Given the description of an element on the screen output the (x, y) to click on. 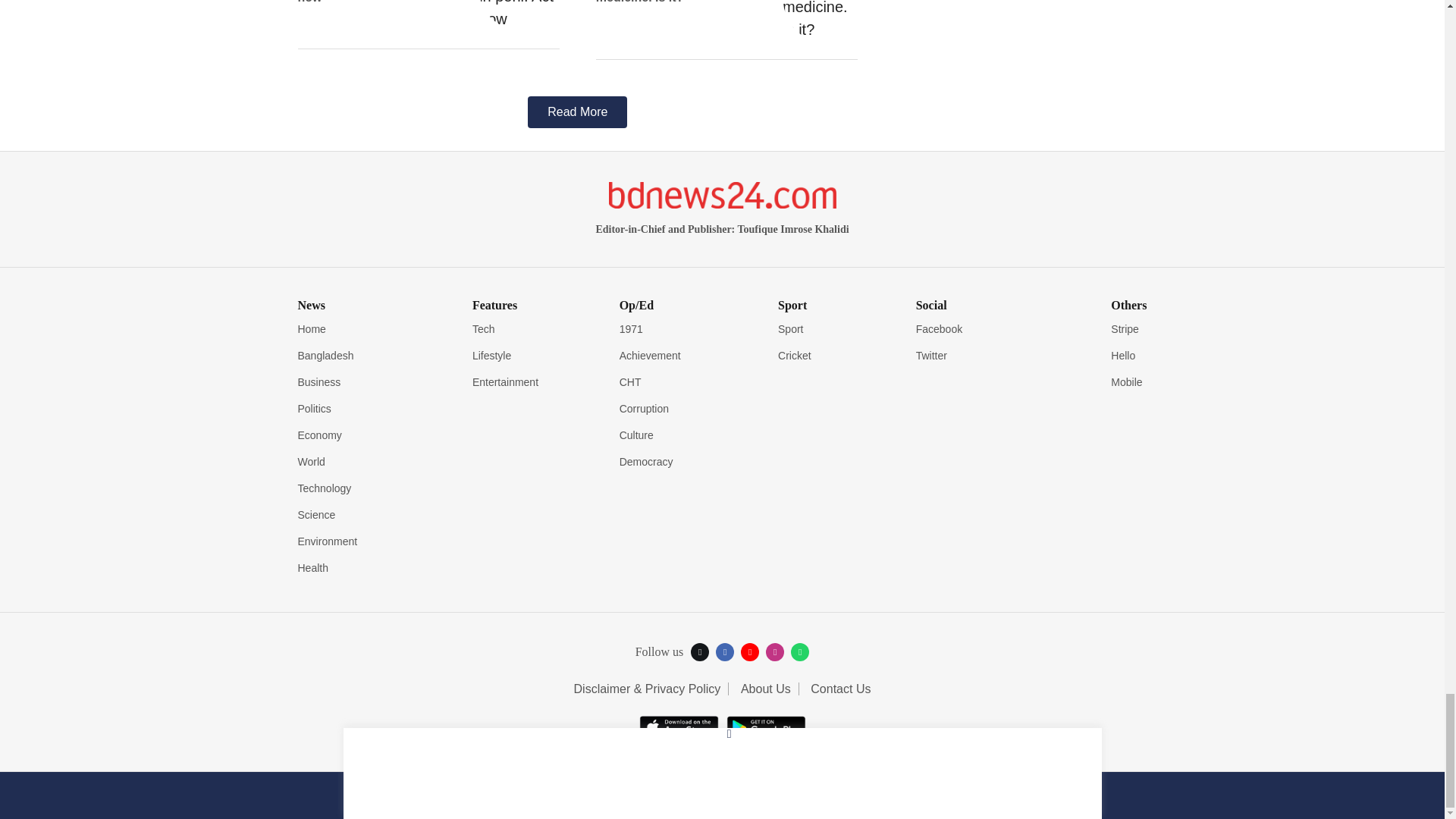
Environment in peril: Act now (521, 15)
Laughter is the best medicine. Is it? (820, 20)
